Given the description of an element on the screen output the (x, y) to click on. 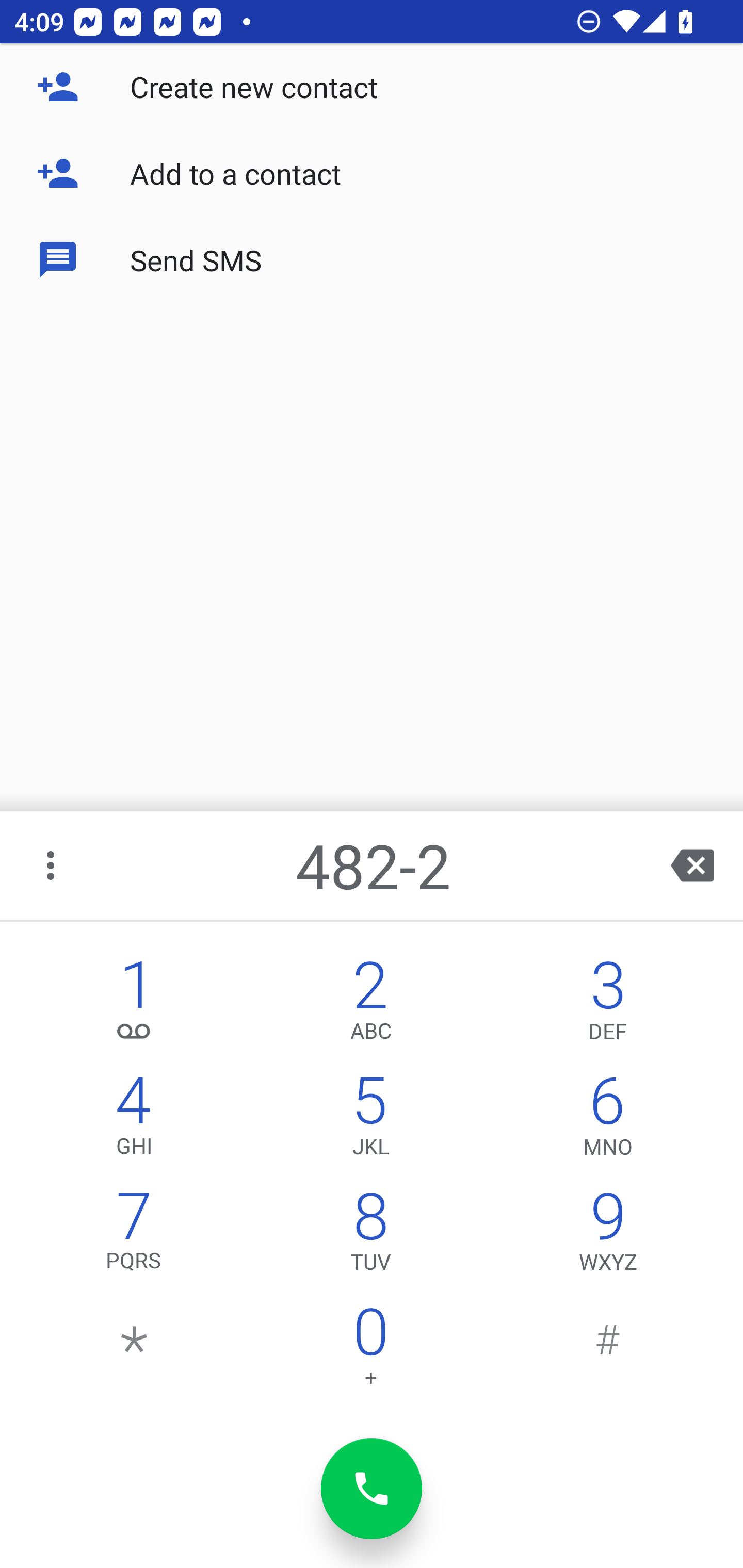
Create new contact (371, 86)
Add to a contact (371, 173)
Send SMS (371, 259)
backspace (692, 865)
More options (52, 865)
1, 1 (133, 1005)
2,ABC 2 ABC (370, 1005)
3,DEF 3 DEF (607, 1005)
4,GHI 4 GHI (133, 1120)
5,JKL 5 JKL (370, 1120)
6,MNO 6 MNO (607, 1120)
7,PQRS 7 PQRS (133, 1235)
8,TUV 8 TUV (370, 1235)
9,WXYZ 9 WXYZ (607, 1235)
* (133, 1351)
0 0 + (370, 1351)
# (607, 1351)
dial (371, 1488)
